Given the description of an element on the screen output the (x, y) to click on. 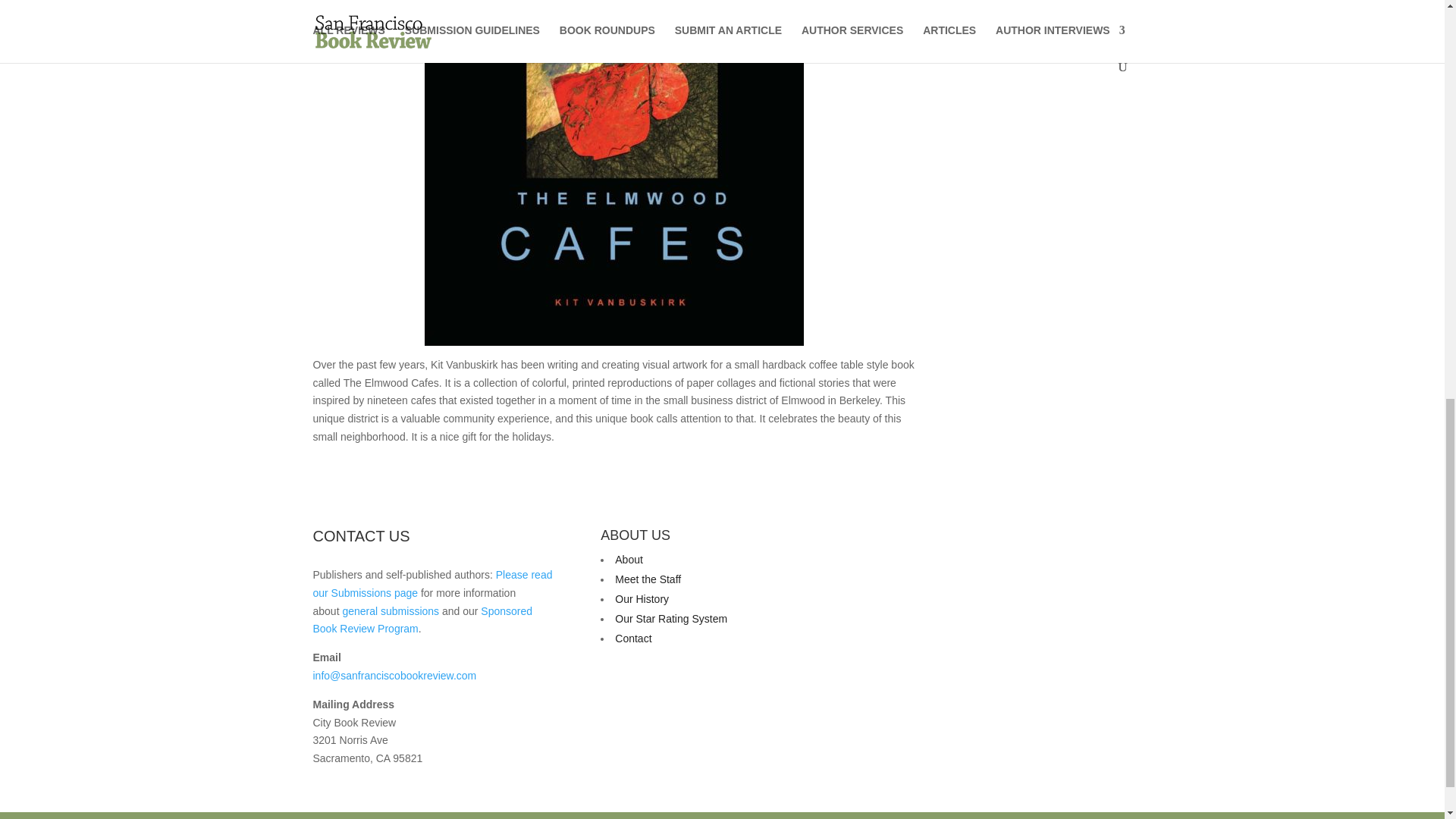
Submitting Books for Review (432, 583)
general submissions (390, 611)
Meet the Staff (647, 579)
Our Star Rating System (670, 618)
About (628, 559)
Our History (641, 598)
Sponsored Book Review Program (422, 620)
Please read our Submissions page (432, 583)
Contact (632, 638)
